Given the description of an element on the screen output the (x, y) to click on. 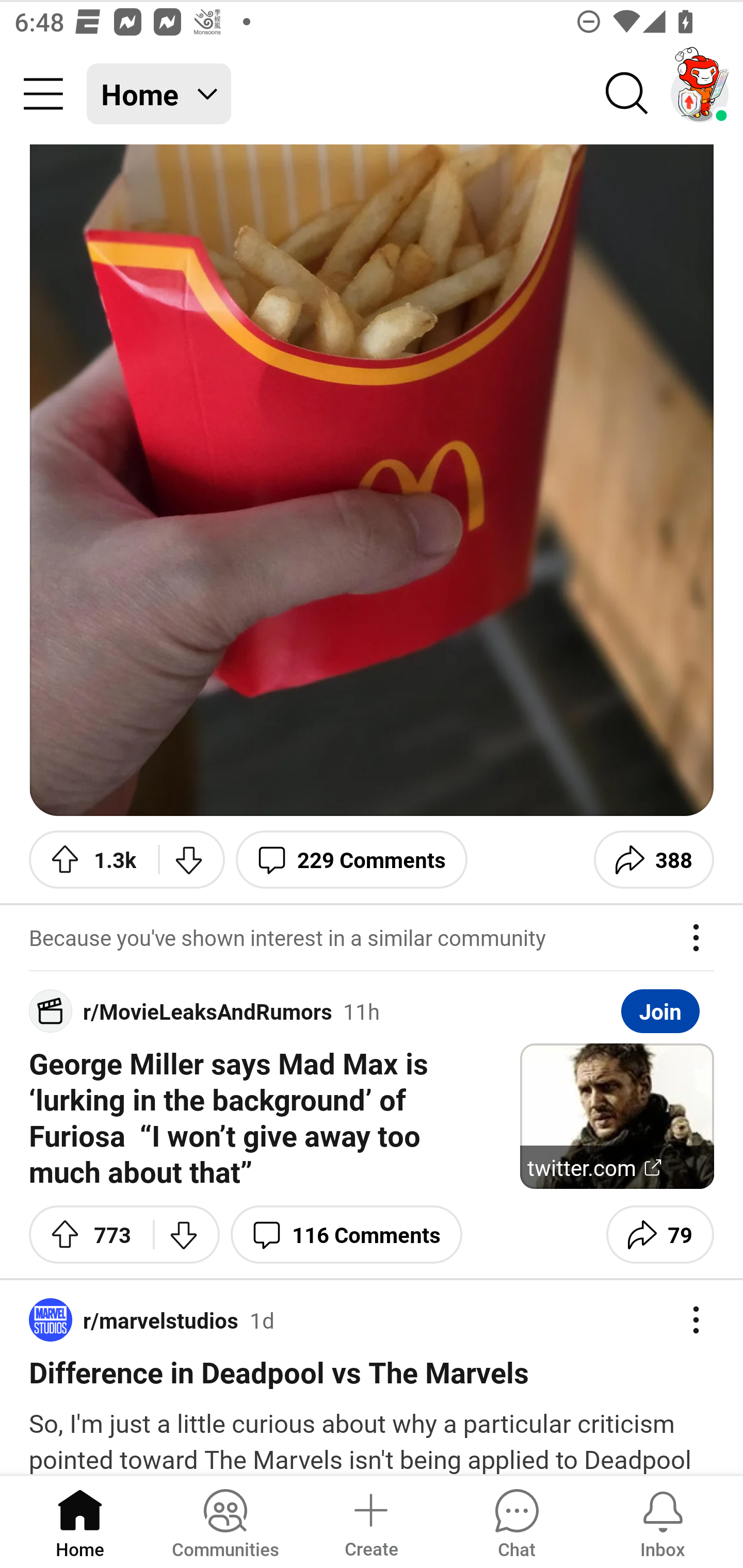
Community menu (43, 93)
Home Home feed (158, 93)
Search (626, 93)
TestAppium002 account (699, 93)
Home (80, 1520)
Communities (225, 1520)
Create a post Create (370, 1520)
Chat (516, 1520)
Inbox (662, 1520)
